Given the description of an element on the screen output the (x, y) to click on. 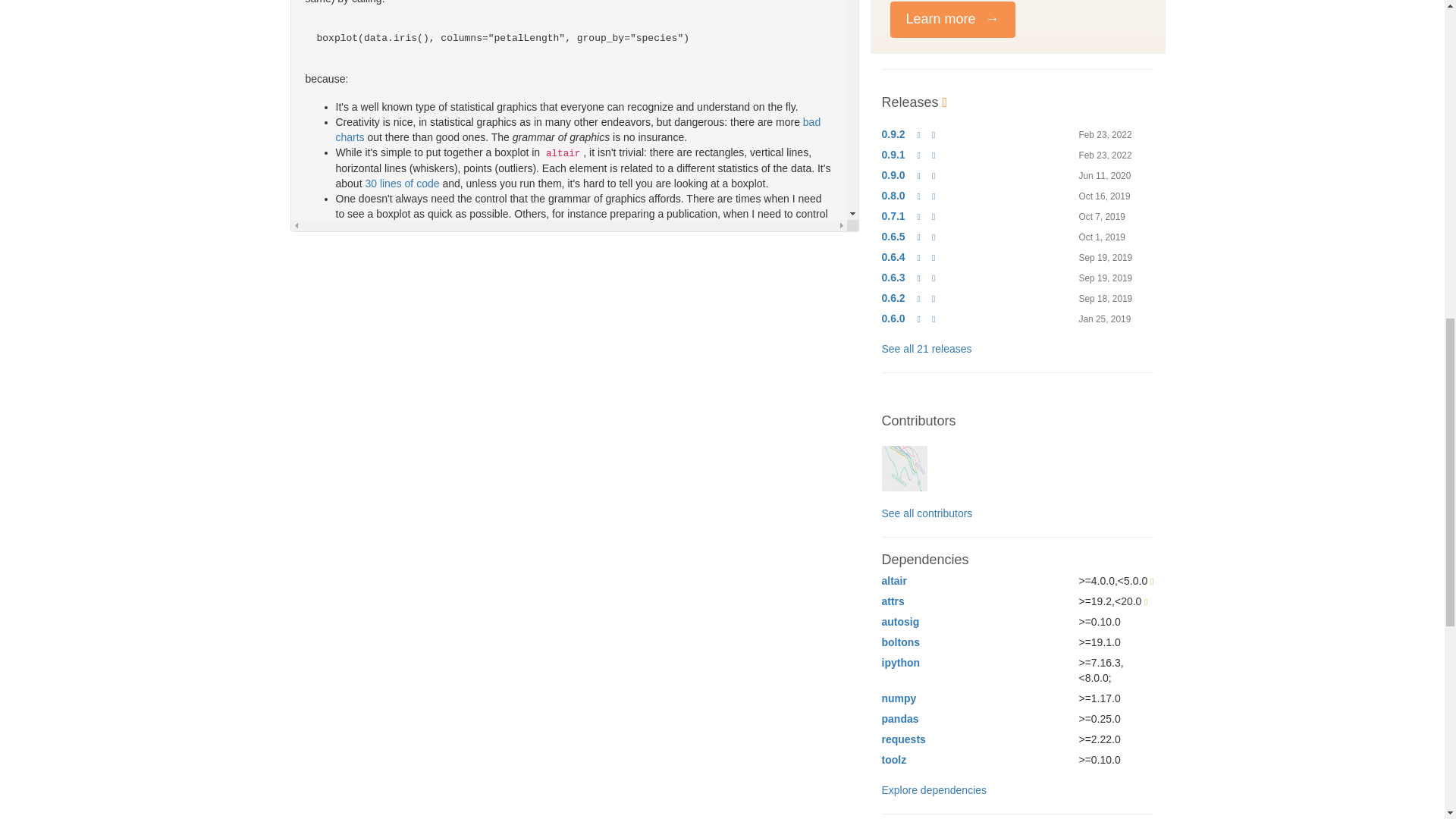
30 lines of code (402, 183)
bad charts (577, 129)
gallery (370, 459)
Examples (575, 722)
research efforts (561, 571)
overlapping points (535, 563)
